Given the description of an element on the screen output the (x, y) to click on. 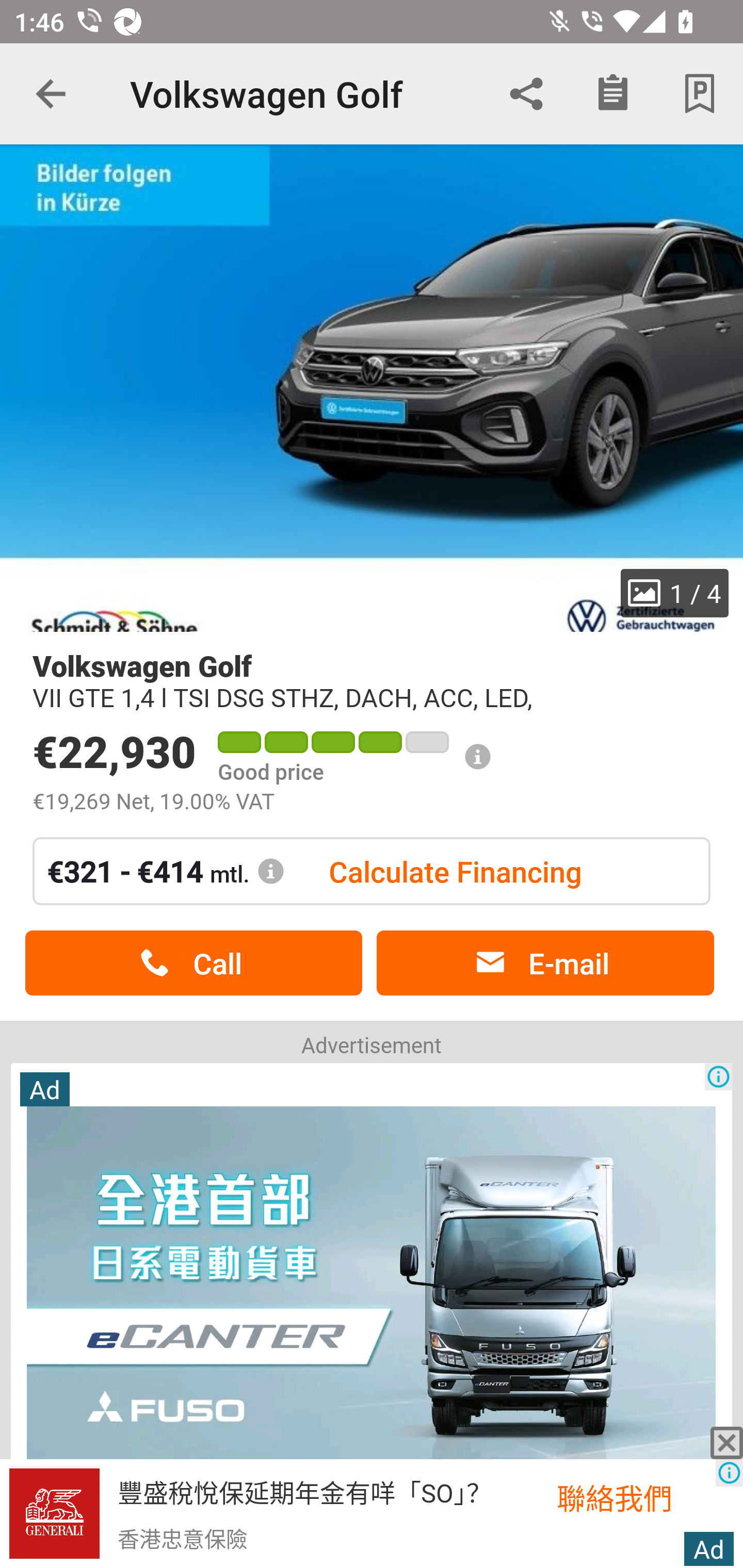
Navigate up (50, 93)
Share via (525, 93)
Checklist (612, 93)
Park (699, 93)
Calculate Financing (454, 870)
€321 - €414 mtl. (165, 870)
Call (193, 963)
E-mail (545, 963)
Ad 全港首部日系電動貨車 eCanter FUSO 三菱貨車 Ad Choices Icon (371, 1313)
Ad Choices Icon (718, 1076)
豐盛稅悅保延期年金有咩「SO」？ 香港忠意保險 聯絡我們 Ad Ad Choices Icon (371, 1513)
Ad Choices Icon (729, 1472)
聯絡我們 (635, 1496)
豐盛稅悅保延期年金有咩「SO」？ (304, 1490)
香港忠意保險 (182, 1537)
